Given the description of an element on the screen output the (x, y) to click on. 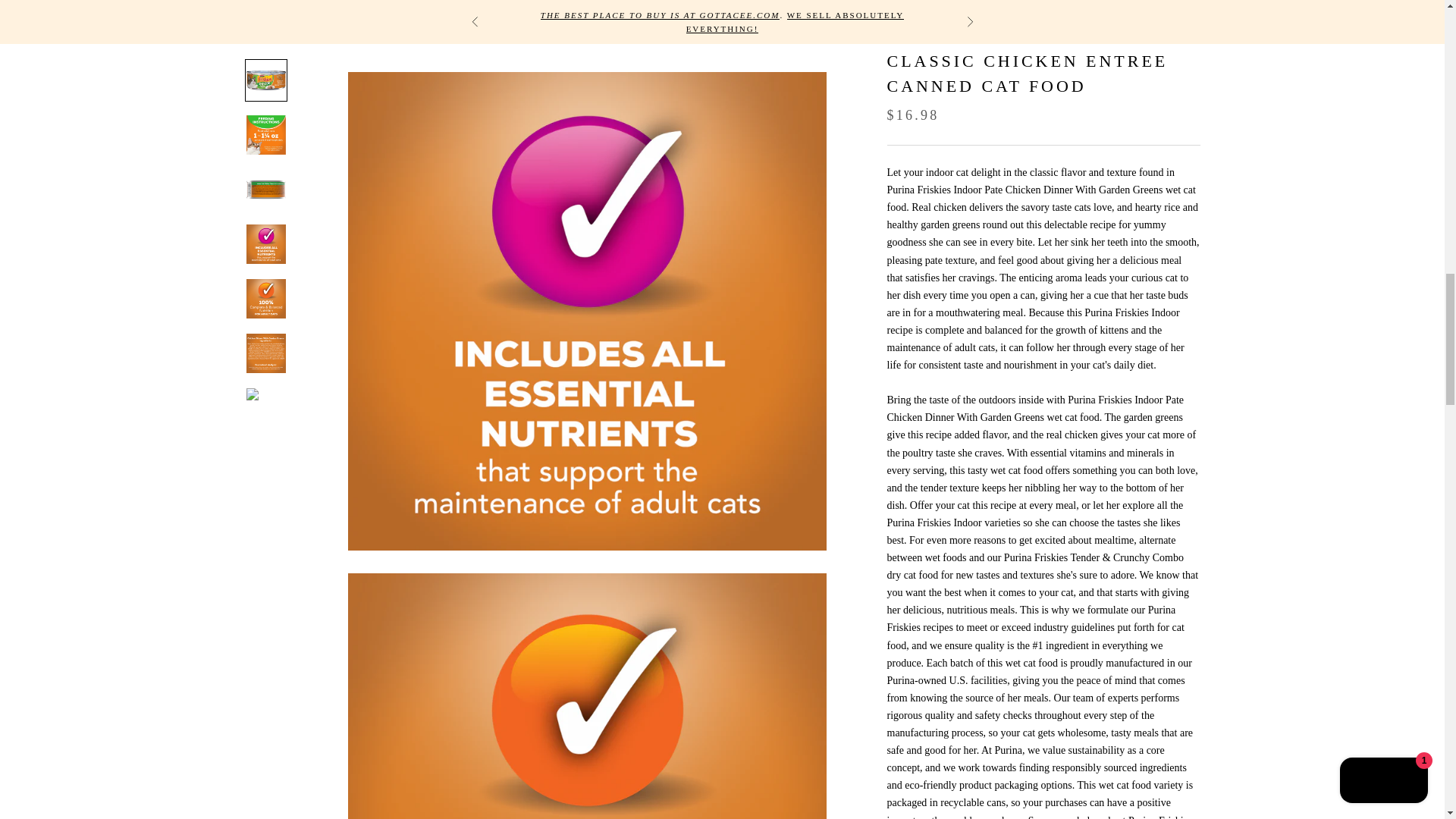
Decrease quantity (903, 129)
ADD TO CART (1042, 187)
1 (935, 129)
More payment options (1042, 270)
Decrease quantity (967, 129)
